Given the description of an element on the screen output the (x, y) to click on. 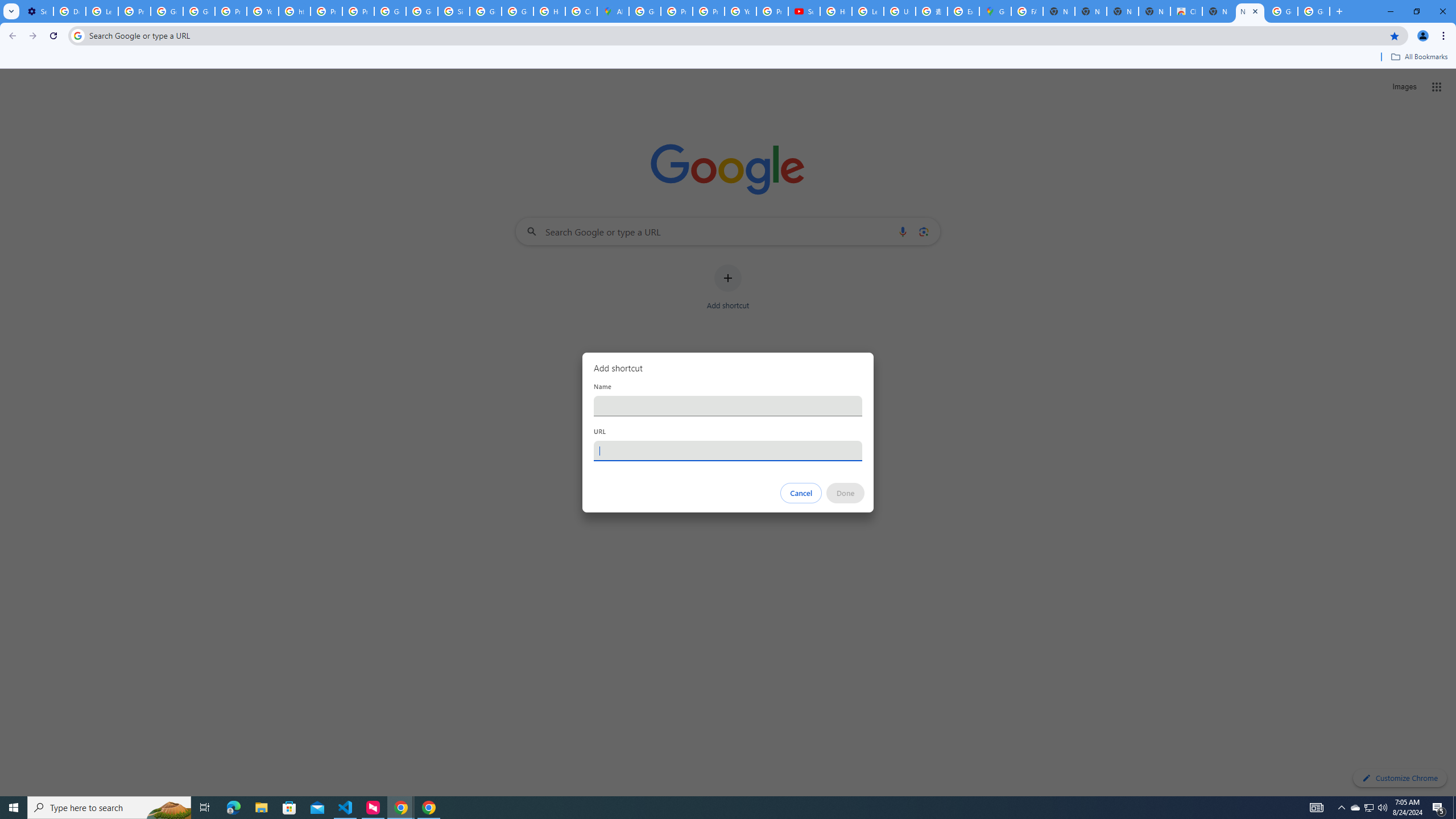
Privacy Help Center - Policies Help (708, 11)
New Tab (1249, 11)
Chrome Web Store (1185, 11)
Sign in - Google Accounts (453, 11)
Subscriptions - YouTube (804, 11)
Delete photos & videos - Computer - Google Photos Help (69, 11)
Google Account Help (166, 11)
